Given the description of an element on the screen output the (x, y) to click on. 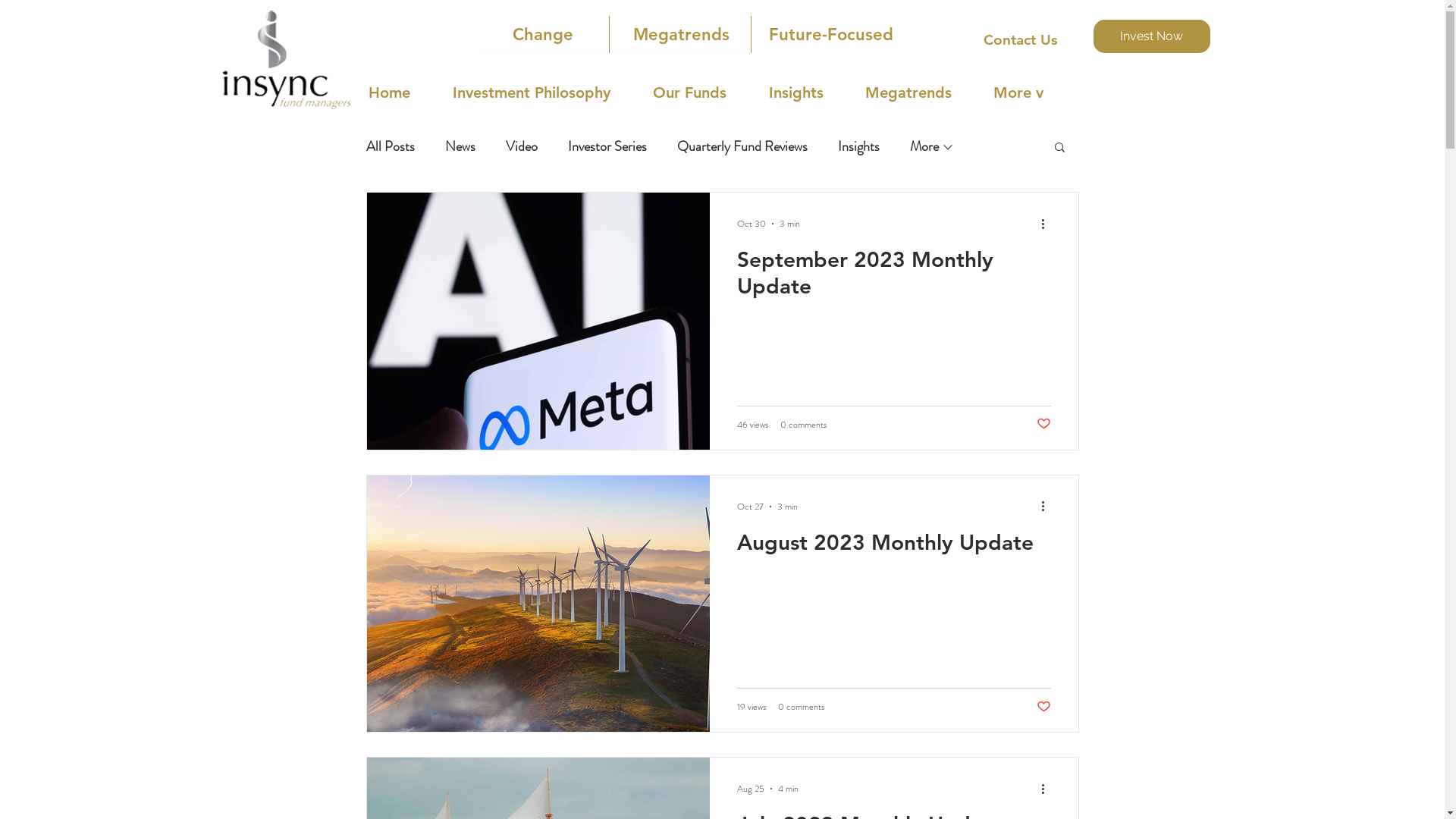
Our Funds Element type: text (702, 92)
Quarterly Fund Reviews Element type: text (741, 146)
Investor Series Element type: text (606, 146)
Megatrends Element type: text (920, 92)
Change Element type: text (542, 34)
All Posts Element type: text (389, 146)
Insights Element type: text (857, 146)
Future-Focused Element type: text (830, 34)
Site Search Element type: hover (1151, 92)
News Element type: text (459, 146)
Invest Now Element type: text (1151, 36)
0 comments Element type: text (801, 706)
Insights Element type: text (809, 92)
Video Element type: text (520, 146)
Post not marked as liked Element type: text (1042, 707)
Investment Philosophy Element type: text (544, 92)
Megatrends Element type: text (680, 34)
0 comments Element type: text (802, 423)
September 2023 Monthly Update Element type: text (894, 276)
Home Element type: text (402, 92)
August 2023 Monthly Update Element type: text (894, 545)
Contact Us Element type: text (1019, 40)
Post not marked as liked Element type: text (1042, 424)
